Given the description of an element on the screen output the (x, y) to click on. 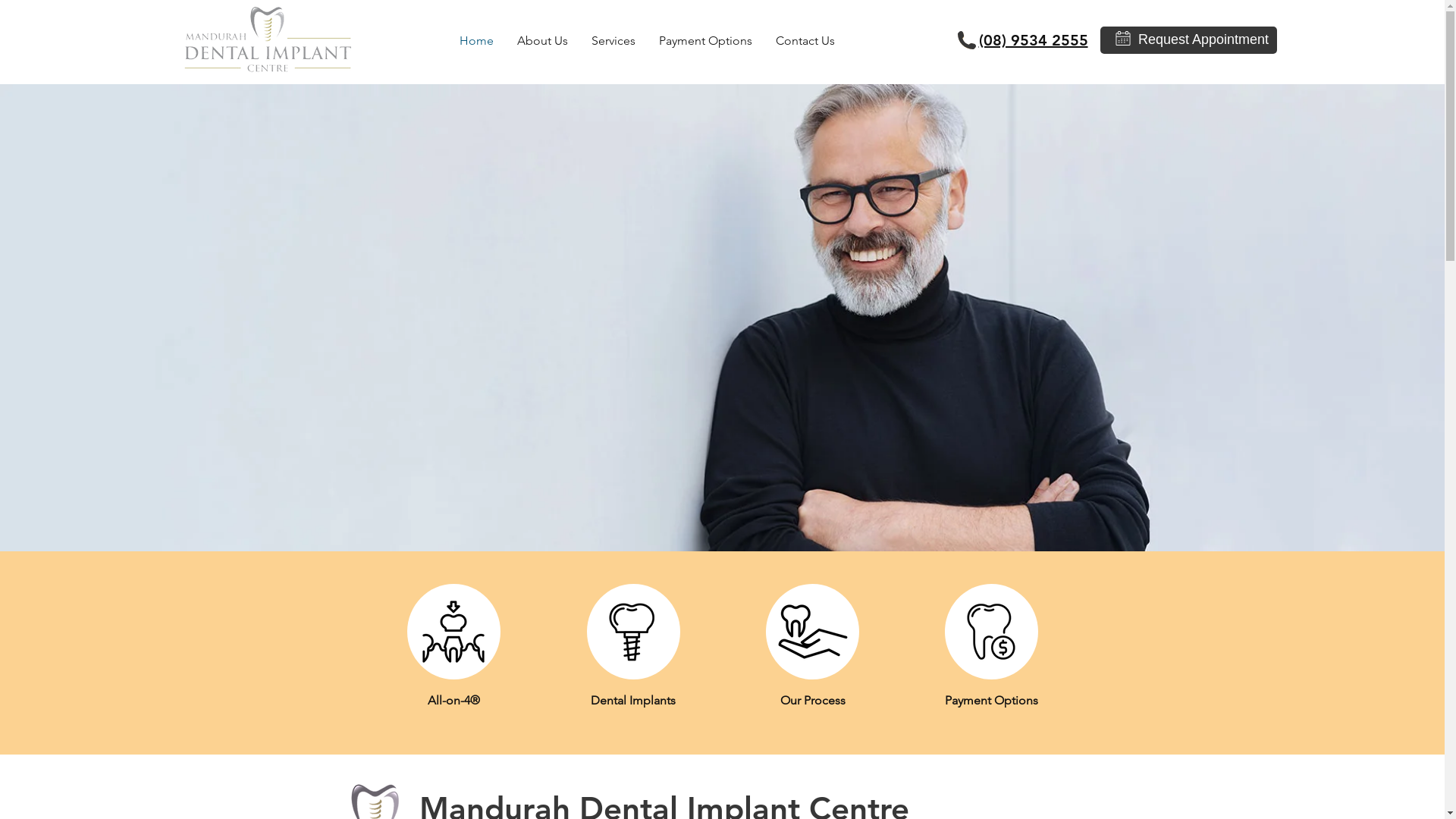
Contact Us Element type: text (805, 40)
Payment Options Element type: text (705, 40)
(08) 9534 2555 Element type: text (1032, 37)
Services Element type: text (612, 40)
About Us Element type: text (542, 40)
Request Appointment Element type: text (1202, 39)
(08) 9534 2555 Element type: text (1032, 40)
Home Element type: text (476, 40)
